Given the description of an element on the screen output the (x, y) to click on. 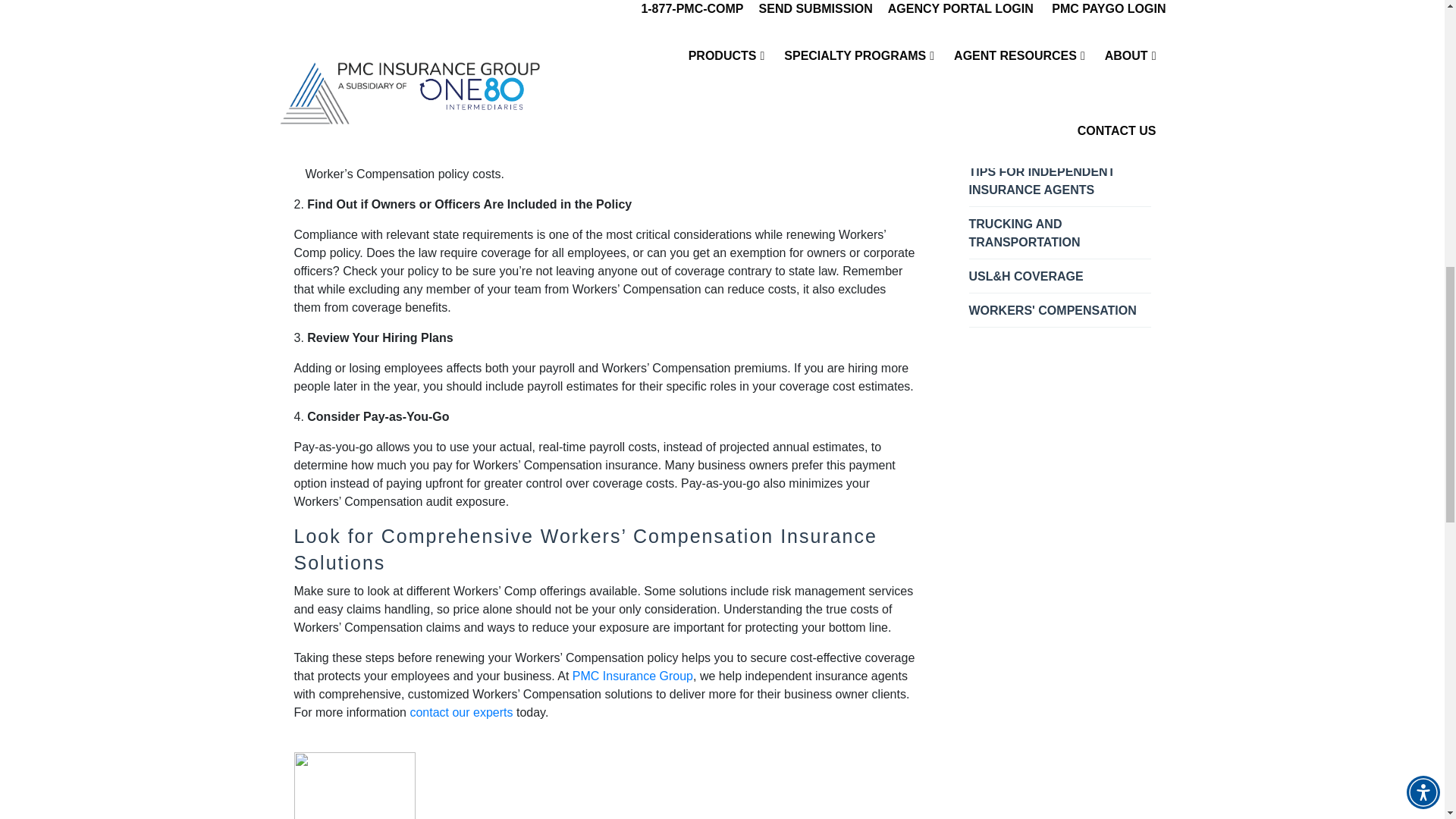
PMC Insurance Group (632, 675)
